Given the description of an element on the screen output the (x, y) to click on. 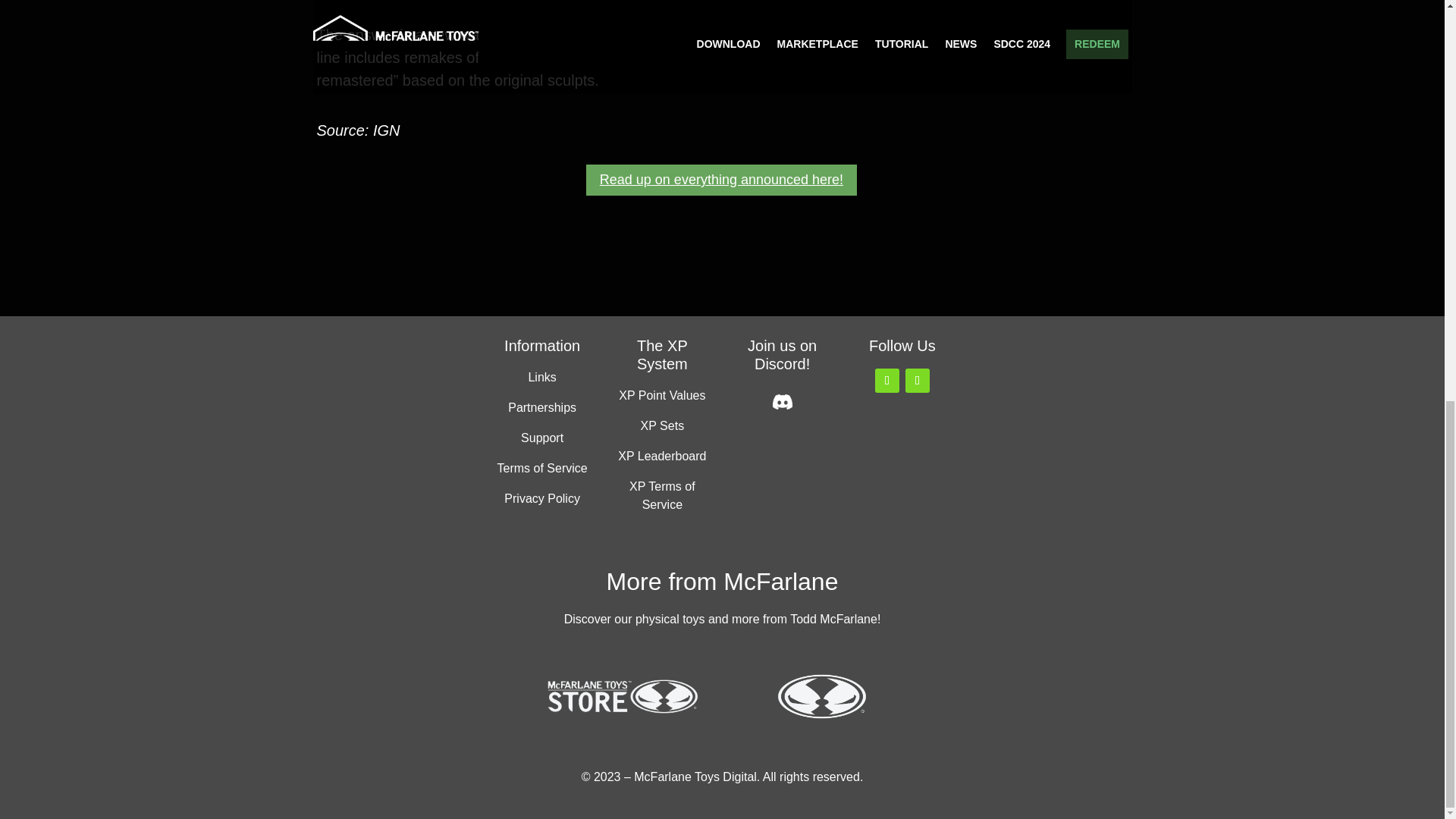
Follow on Youtube (917, 380)
Follow on X (887, 380)
Read up on everything announced here! (721, 179)
